Given the description of an element on the screen output the (x, y) to click on. 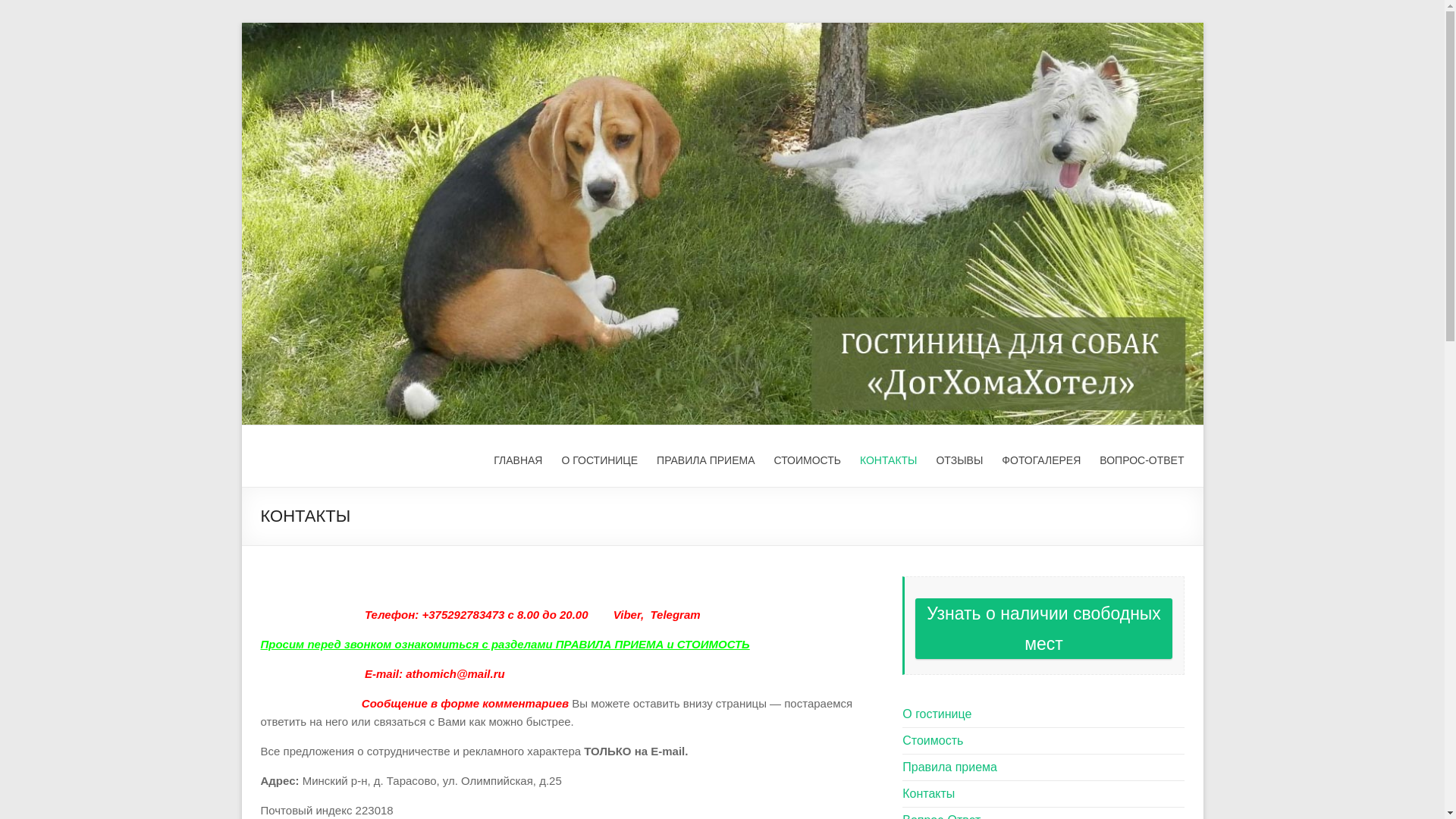
athomich@mail.ru Element type: text (454, 673)
